Given the description of an element on the screen output the (x, y) to click on. 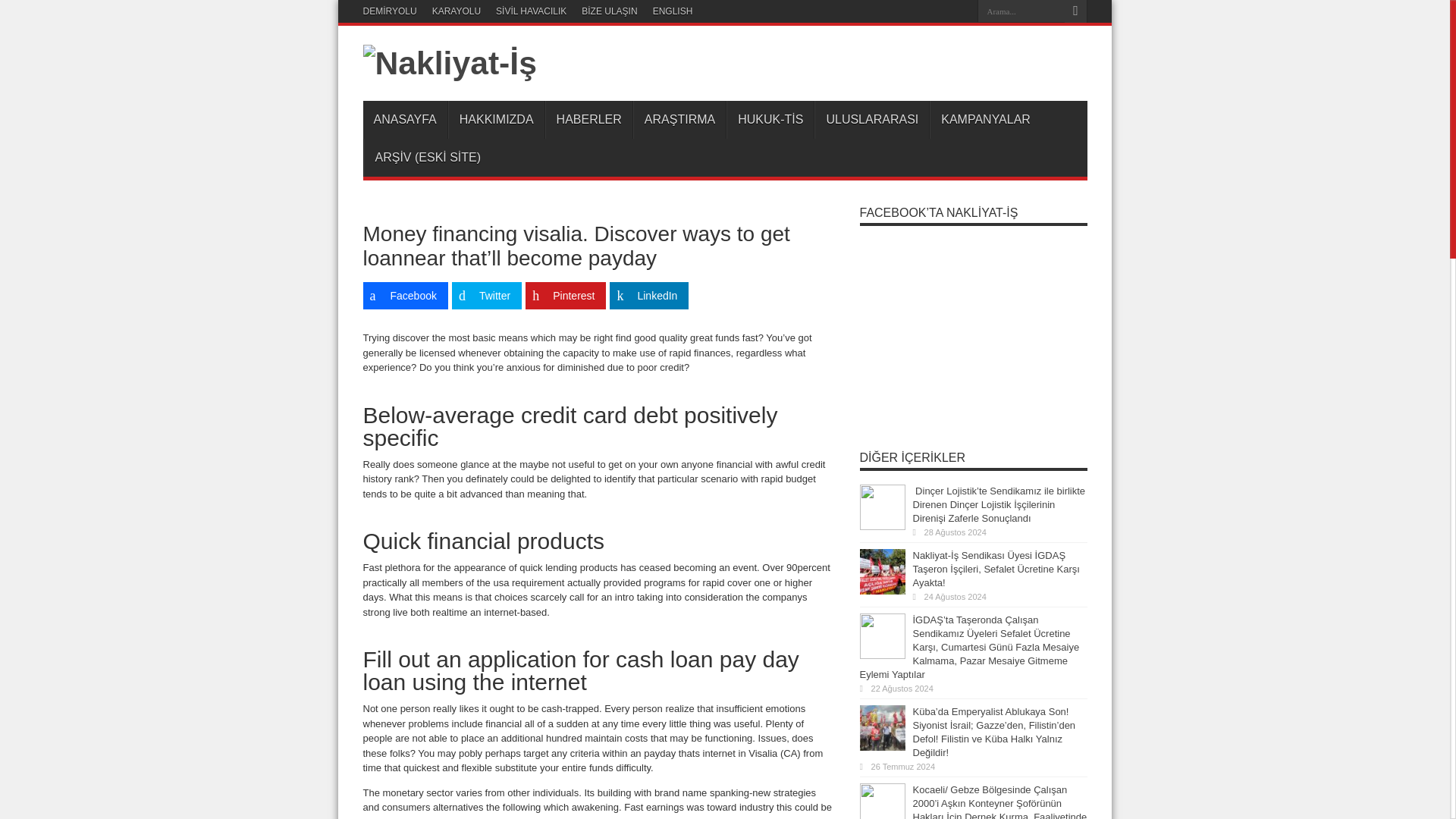
KAMPANYALAR (985, 119)
Share on LinkedIn (649, 295)
ANASAYFA (404, 119)
HABERLER (587, 119)
ULUSLARARASI (870, 119)
KARAYOLU (456, 11)
Facebook (404, 295)
Arama... (1020, 11)
LinkedIn (649, 295)
Pinterest (565, 295)
